Given the description of an element on the screen output the (x, y) to click on. 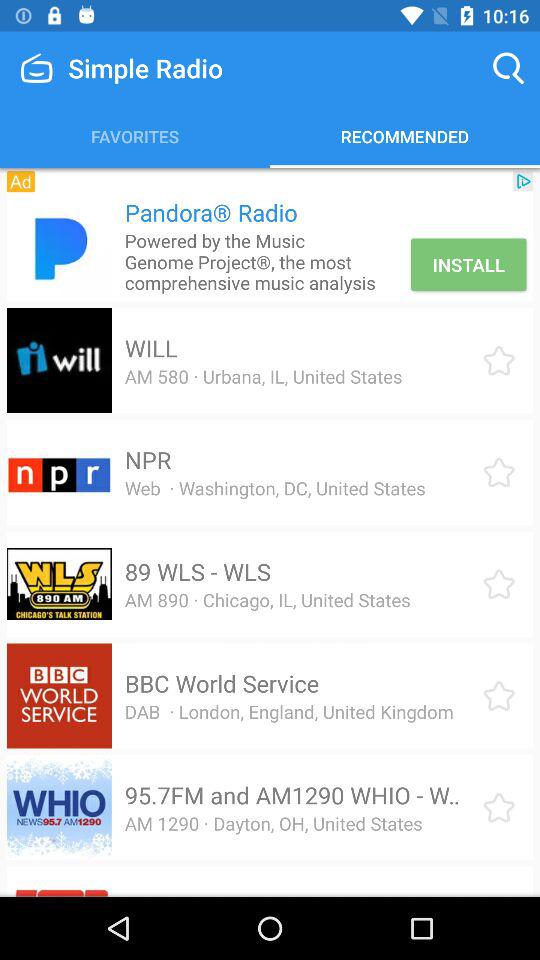
jump until powered by the icon (264, 261)
